Given the description of an element on the screen output the (x, y) to click on. 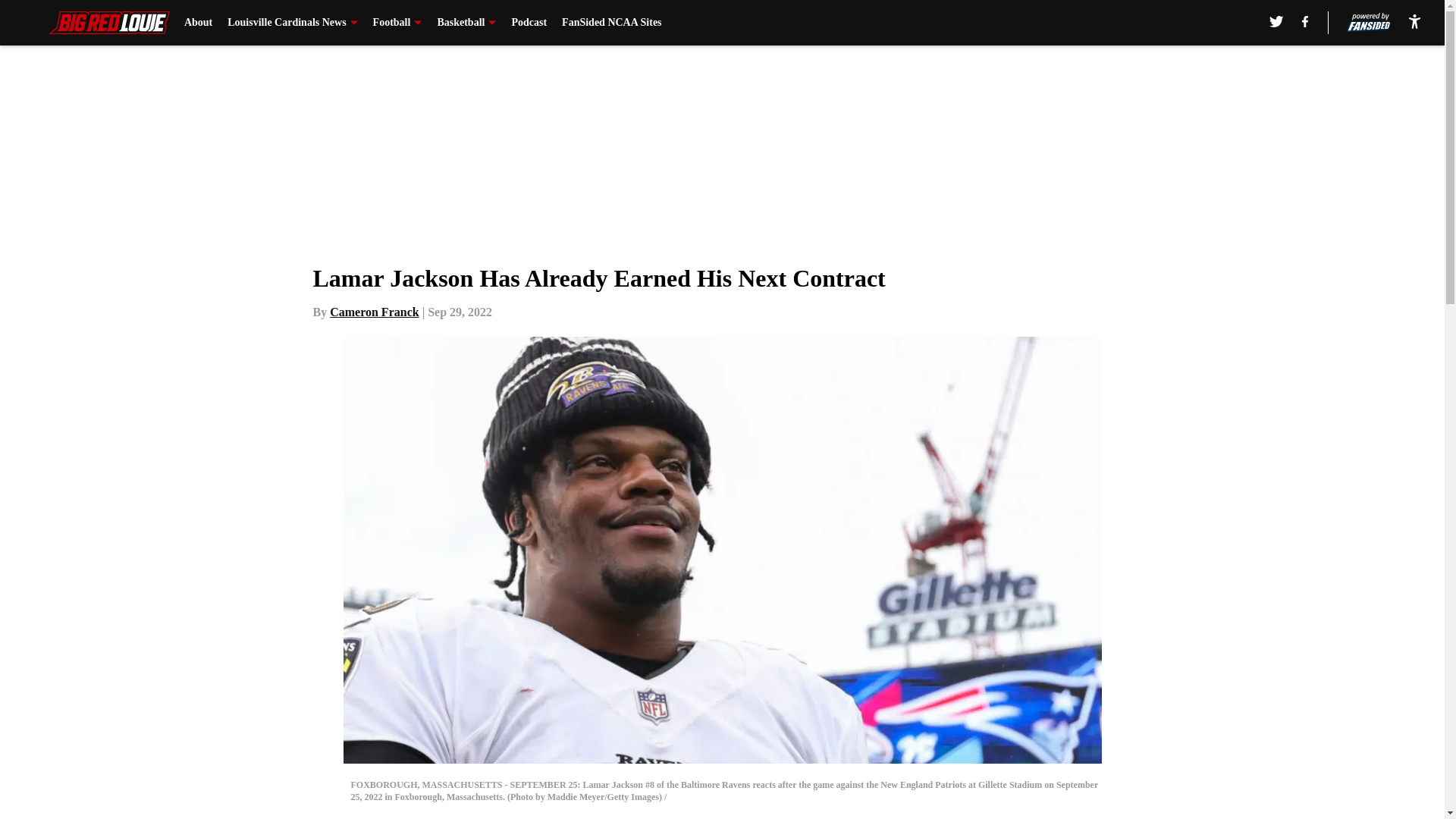
FanSided NCAA Sites (611, 22)
Podcast (529, 22)
Cameron Franck (374, 311)
About (198, 22)
